Given the description of an element on the screen output the (x, y) to click on. 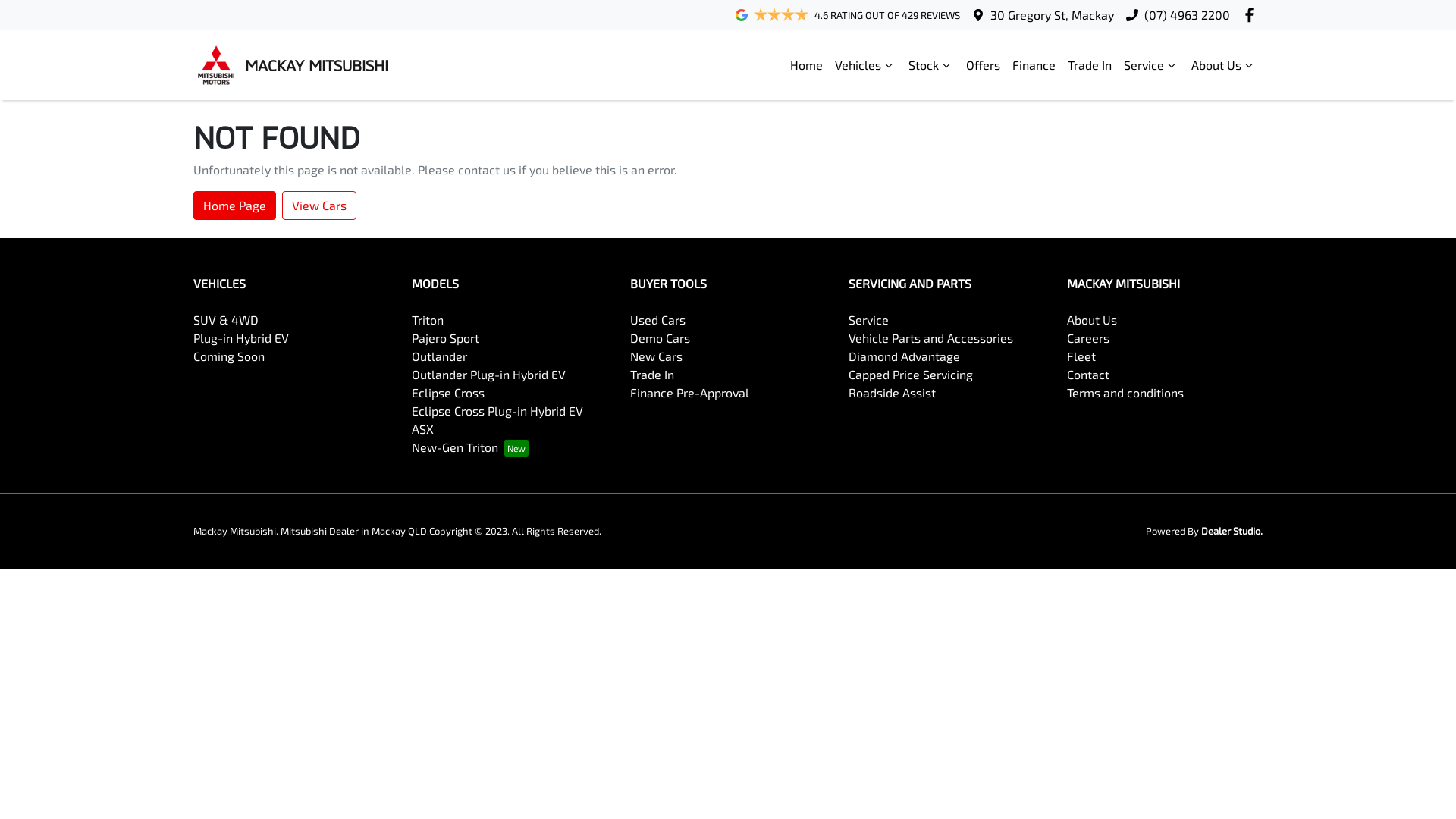
Careers Element type: text (1087, 337)
About Us Element type: text (1091, 319)
Dealer Studio. Element type: text (1231, 530)
Outlander Plug-in Hybrid EV Element type: text (488, 374)
Used Cars Element type: text (657, 319)
Trade In Element type: text (652, 374)
Offers Element type: text (983, 65)
Vehicles Element type: text (865, 65)
Vehicle Parts and Accessories Element type: text (930, 337)
Roadside Assist Element type: text (891, 392)
SUV & 4WD Element type: text (225, 319)
Terms and conditions Element type: text (1124, 392)
(07) 4963 2200 Element type: text (1187, 14)
Eclipse Cross Plug-in Hybrid EV Element type: text (497, 410)
Outlander Element type: text (439, 355)
About Us Element type: text (1223, 65)
Diamond Advantage Element type: text (904, 355)
Finance Pre-Approval Element type: text (689, 392)
Home Page Element type: text (234, 205)
Service Element type: text (1151, 65)
New-Gen Triton Element type: text (469, 446)
Service Element type: text (868, 319)
Pajero Sport Element type: text (445, 337)
Triton Element type: text (427, 319)
Contact Element type: text (1087, 374)
Eclipse Cross Element type: text (447, 392)
View Cars Element type: text (319, 205)
Demo Cars Element type: text (660, 337)
Finance Element type: text (1033, 65)
Plug-in Hybrid EV Element type: text (240, 337)
Capped Price Servicing Element type: text (910, 374)
Trade In Element type: text (1089, 65)
MACKAY MITSUBISHI Element type: text (290, 65)
ASX Element type: text (422, 428)
Fleet Element type: text (1080, 355)
Stock Element type: text (931, 65)
Home Element type: text (806, 65)
Coming Soon Element type: text (228, 355)
30 Gregory St, Mackay Element type: text (1051, 14)
New Cars Element type: text (656, 355)
